Given the description of an element on the screen output the (x, y) to click on. 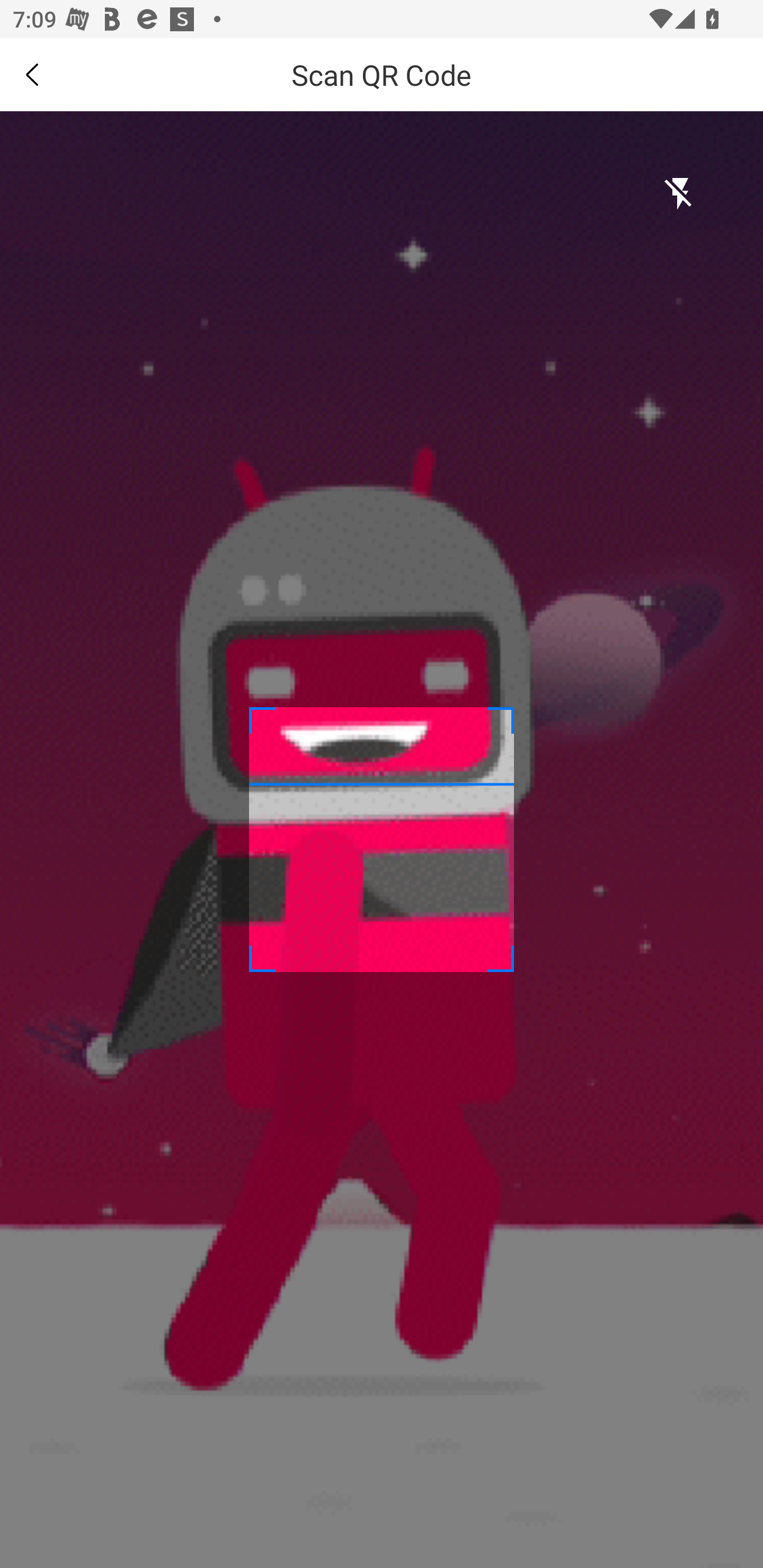
Back (31, 74)
